Given the description of an element on the screen output the (x, y) to click on. 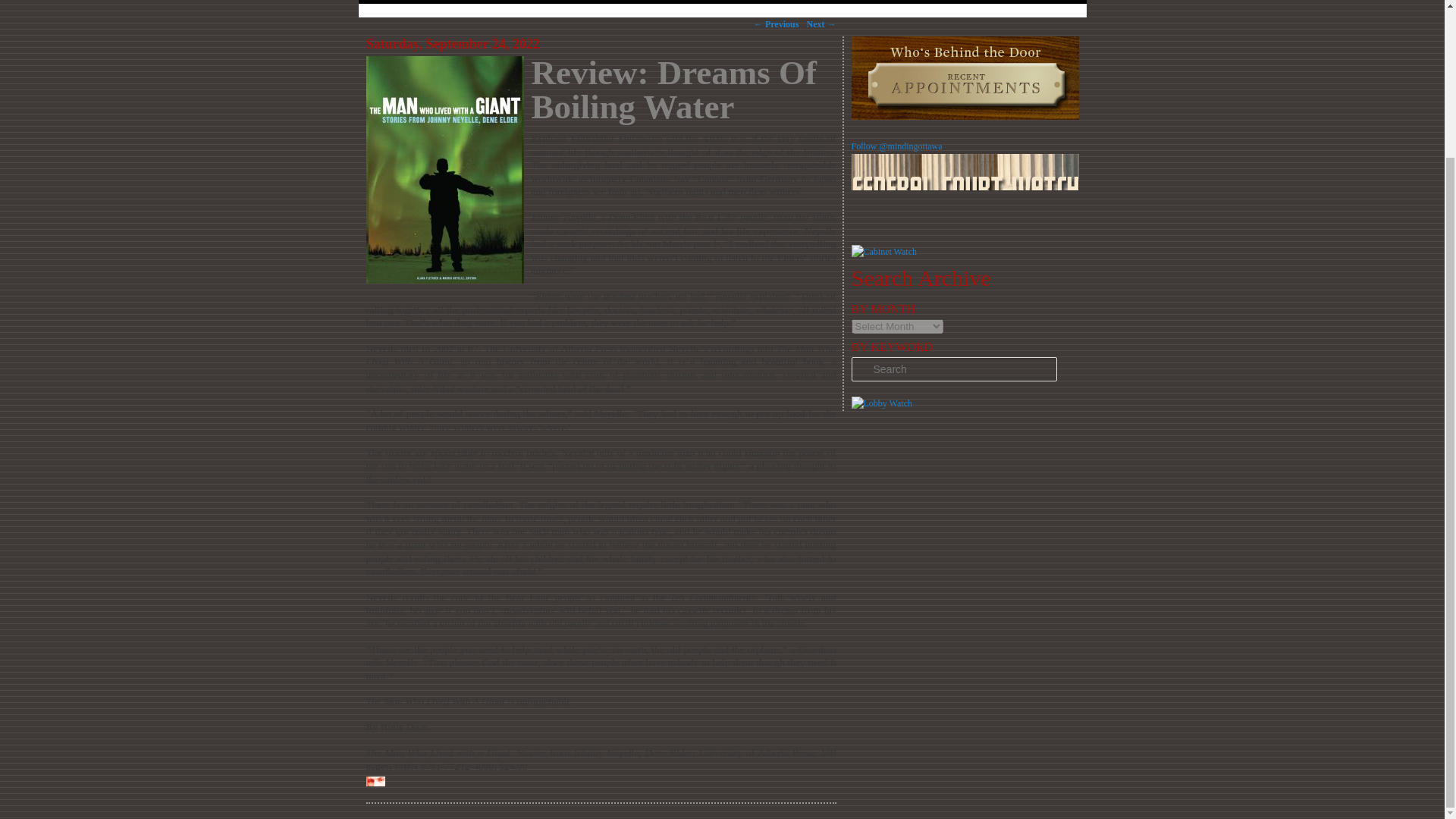
Review: Dreams Of Boiling Water (673, 90)
1:07 am (451, 43)
Permalink to Review: Dreams Of Boiling Water (673, 90)
Saturday, September 24, 2022 (451, 43)
